Given the description of an element on the screen output the (x, y) to click on. 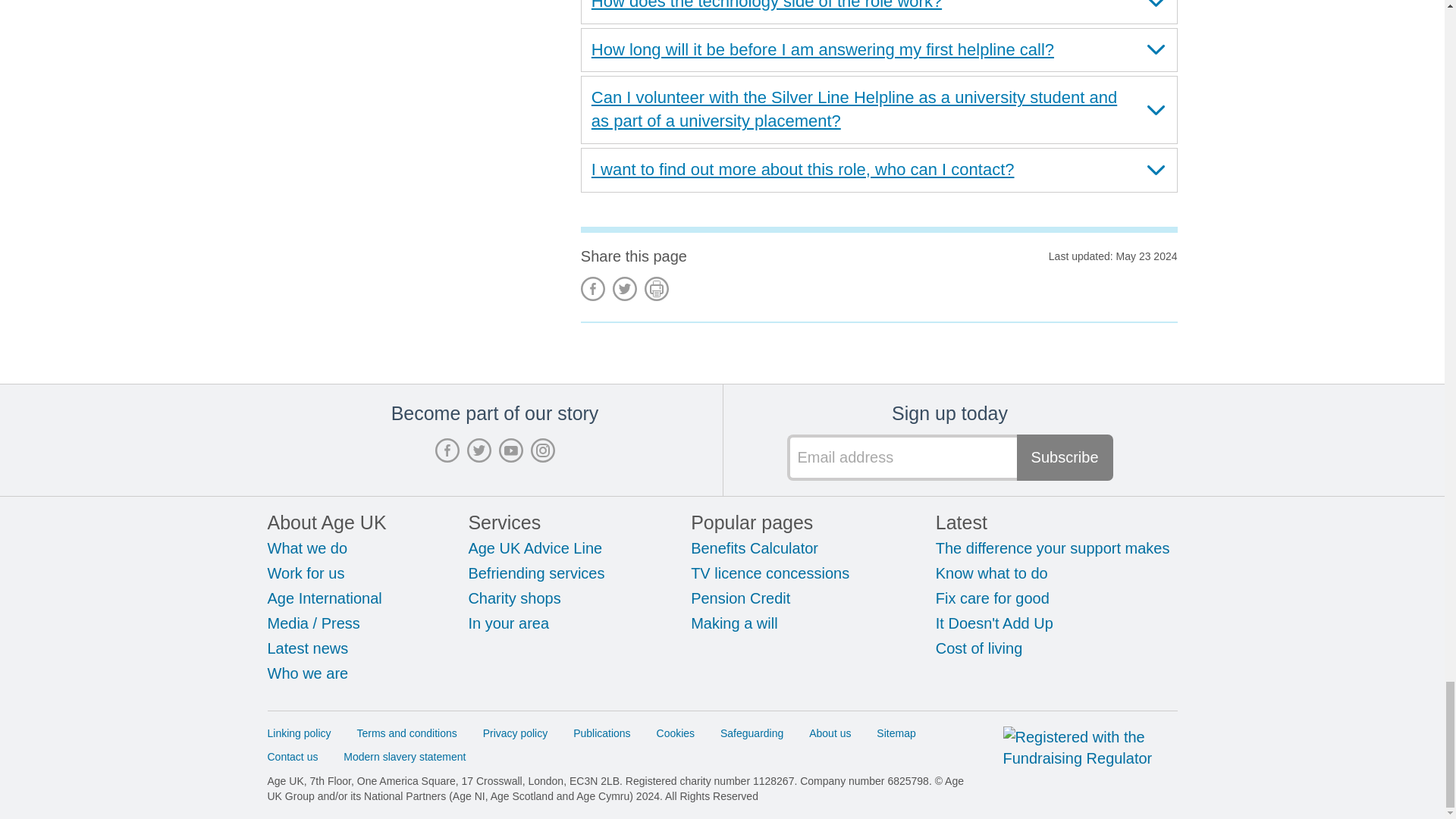
Youtube (510, 450)
Twitter (479, 450)
Subscribe (1064, 457)
Instagram (542, 450)
Facebook (447, 450)
Tweet (624, 288)
Print (656, 288)
Facebook (592, 288)
